Given the description of an element on the screen output the (x, y) to click on. 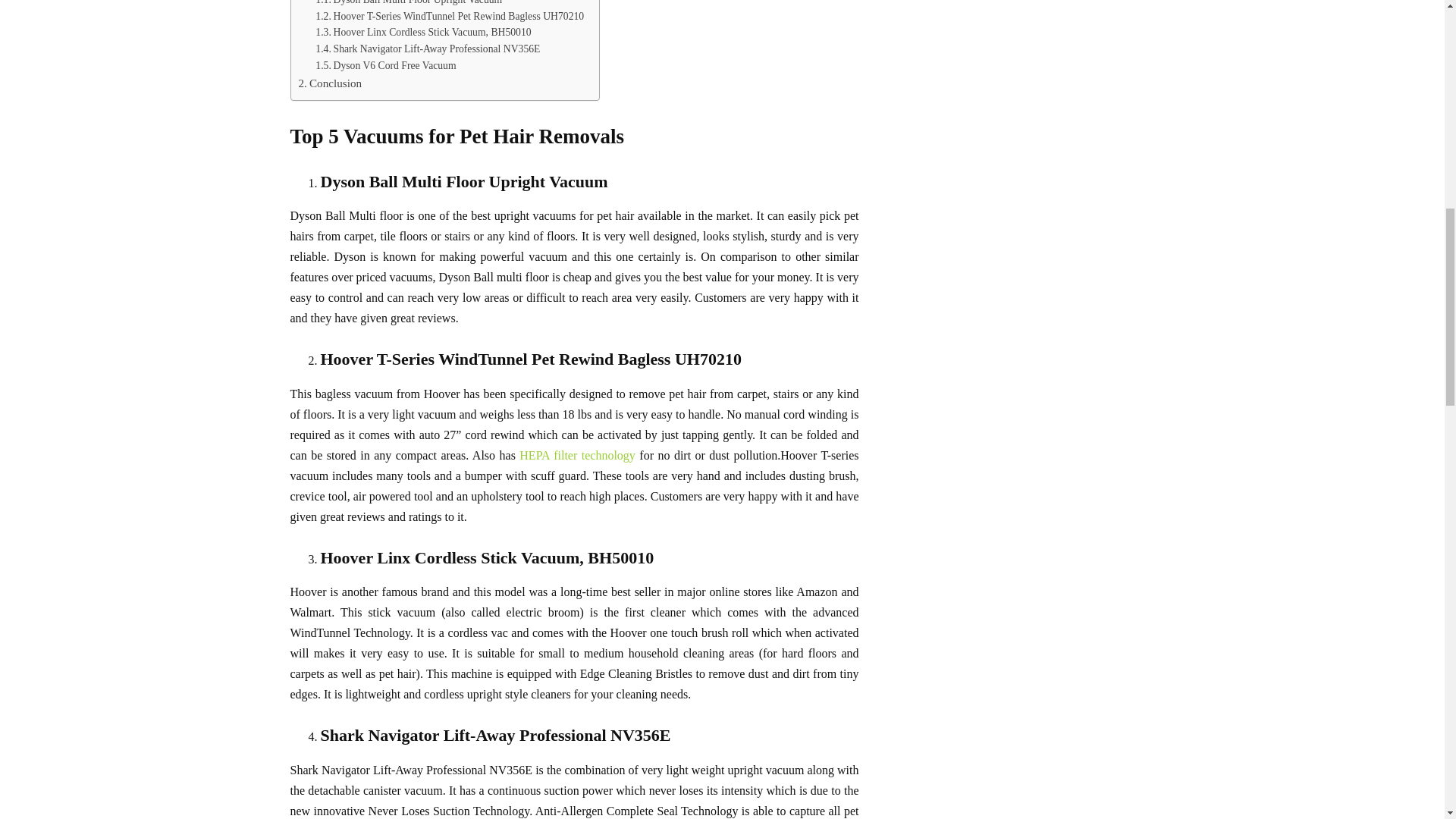
Dyson V6 Cord Free Vacuum (385, 65)
Hoover T-Series WindTunnel Pet Rewind Bagless UH70210 (449, 16)
Dyson V6 Cord Free Vacuum (385, 65)
Conclusion (330, 83)
Shark Navigator Lift-Away Professional NV356E (427, 48)
Conclusion (330, 83)
Dyson Ball Multi Floor Upright Vacuum (408, 4)
Hoover Linx Cordless Stick Vacuum, BH50010 (423, 32)
Hoover T-Series WindTunnel Pet Rewind Bagless UH70210 (449, 16)
Shark Navigator Lift-Away Professional NV356E (427, 48)
